Given the description of an element on the screen output the (x, y) to click on. 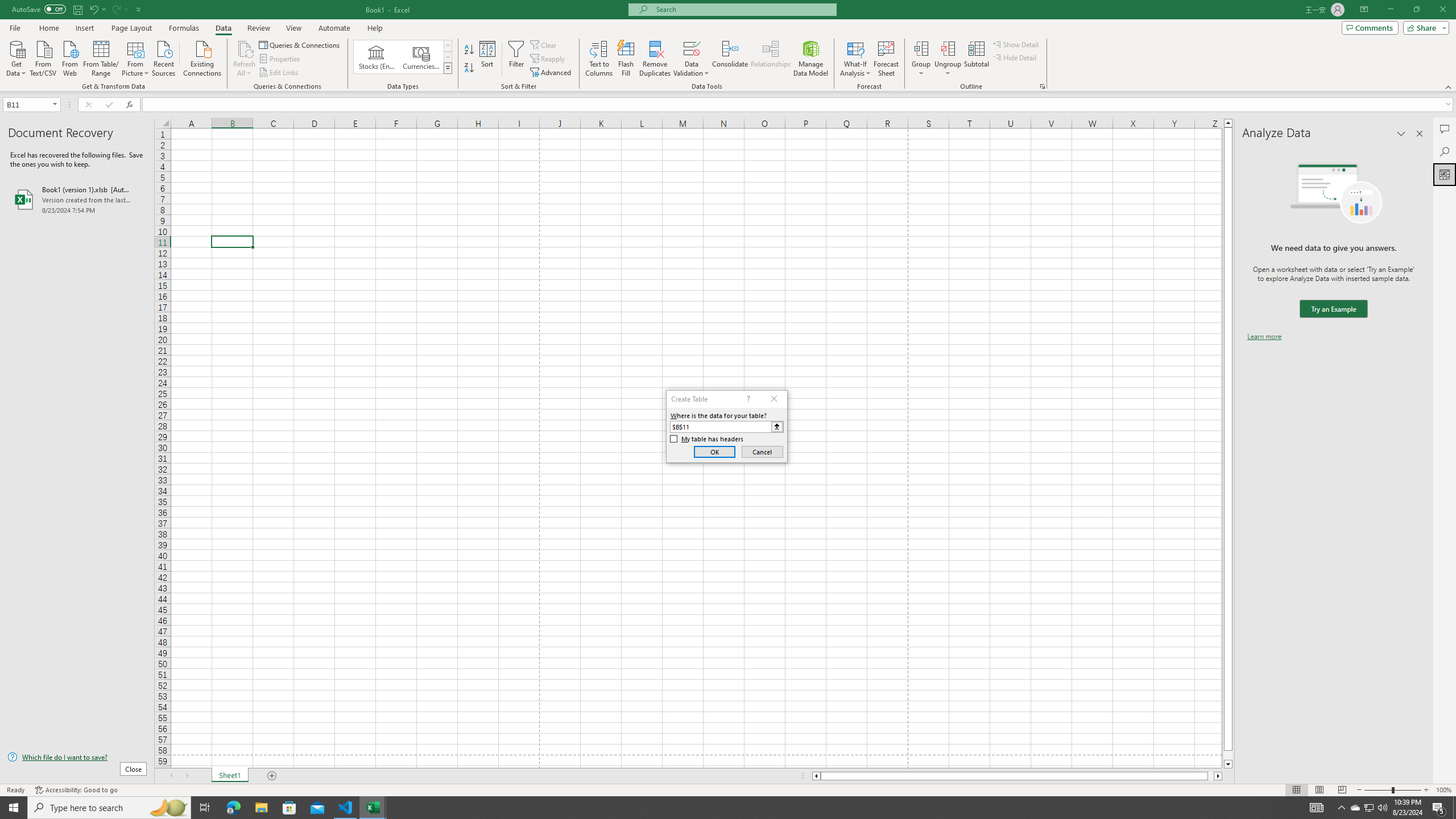
Clear (544, 44)
Which file do I want to save? (77, 757)
Class: NetUIImage (447, 68)
AutomationID: ConvertToLinkedEntity (403, 56)
Remove Duplicates (654, 58)
Formula Bar (799, 104)
From Web (69, 57)
Manage Data Model (810, 58)
Search (1444, 151)
